Given the description of an element on the screen output the (x, y) to click on. 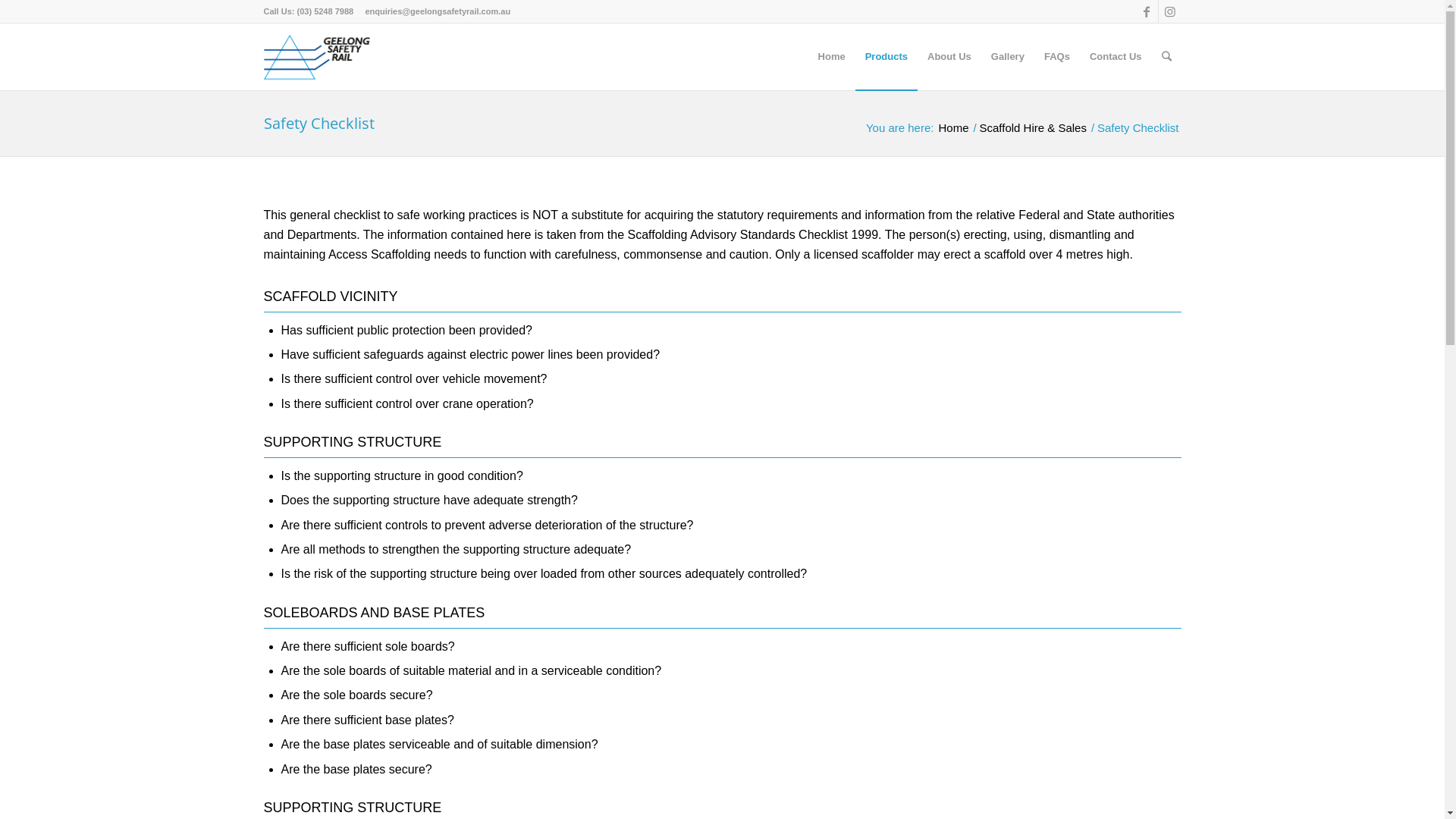
Home Element type: text (952, 127)
About Us Element type: text (949, 56)
Gallery Element type: text (1007, 56)
Home Element type: text (831, 56)
Products Element type: text (886, 56)
Contact Us Element type: text (1115, 56)
(03) 5248 7988 Element type: text (325, 10)
enquiries@geelongsafetyrail.com.au Element type: text (437, 10)
FAQs Element type: text (1056, 56)
Facebook Element type: hover (1146, 11)
Scaffold Hire & Sales Element type: text (1032, 127)
Instagram Element type: hover (1169, 11)
Safety Checklist Element type: text (318, 122)
